Given the description of an element on the screen output the (x, y) to click on. 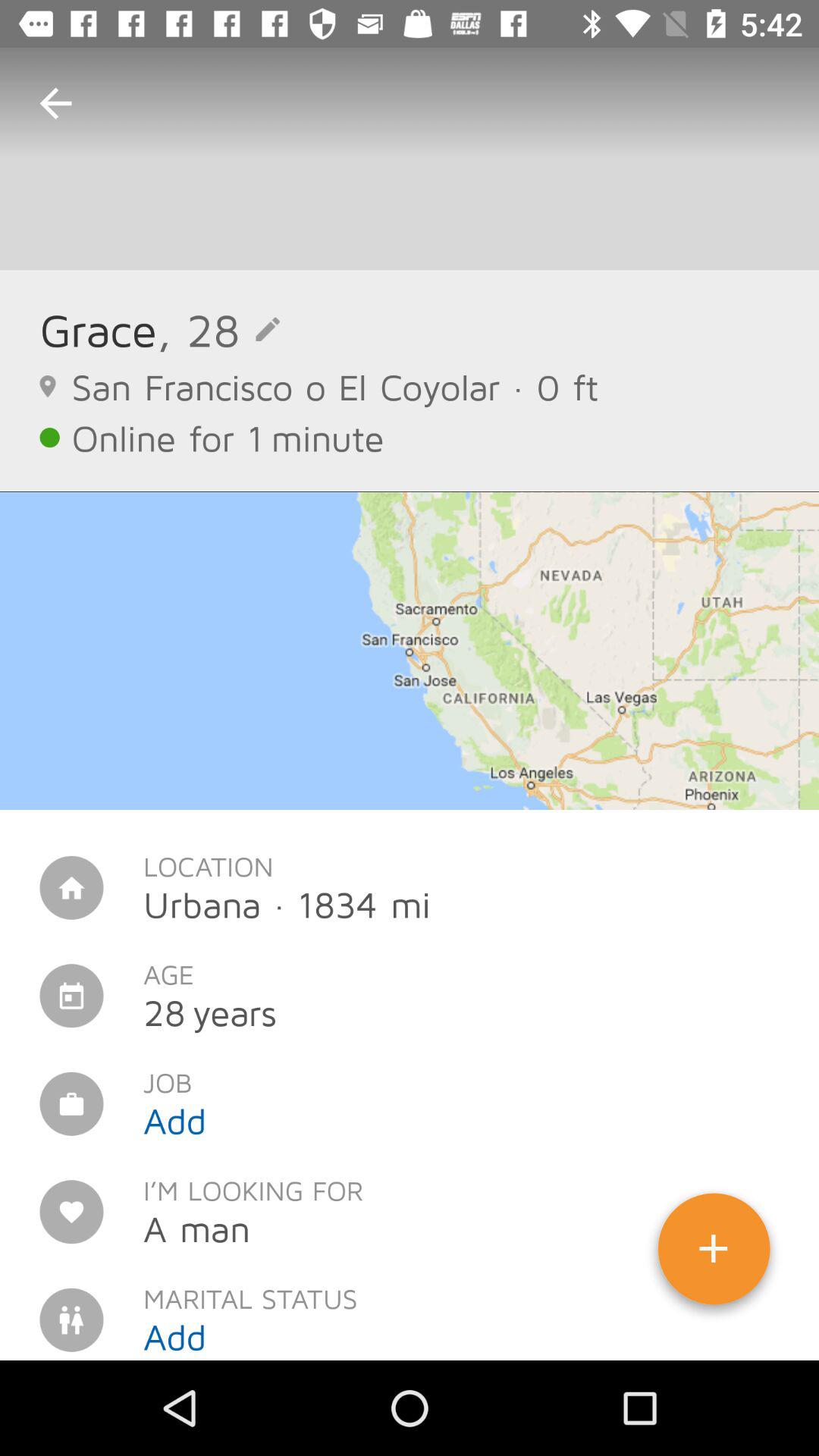
swipe until the , 28 (217, 329)
